Given the description of an element on the screen output the (x, y) to click on. 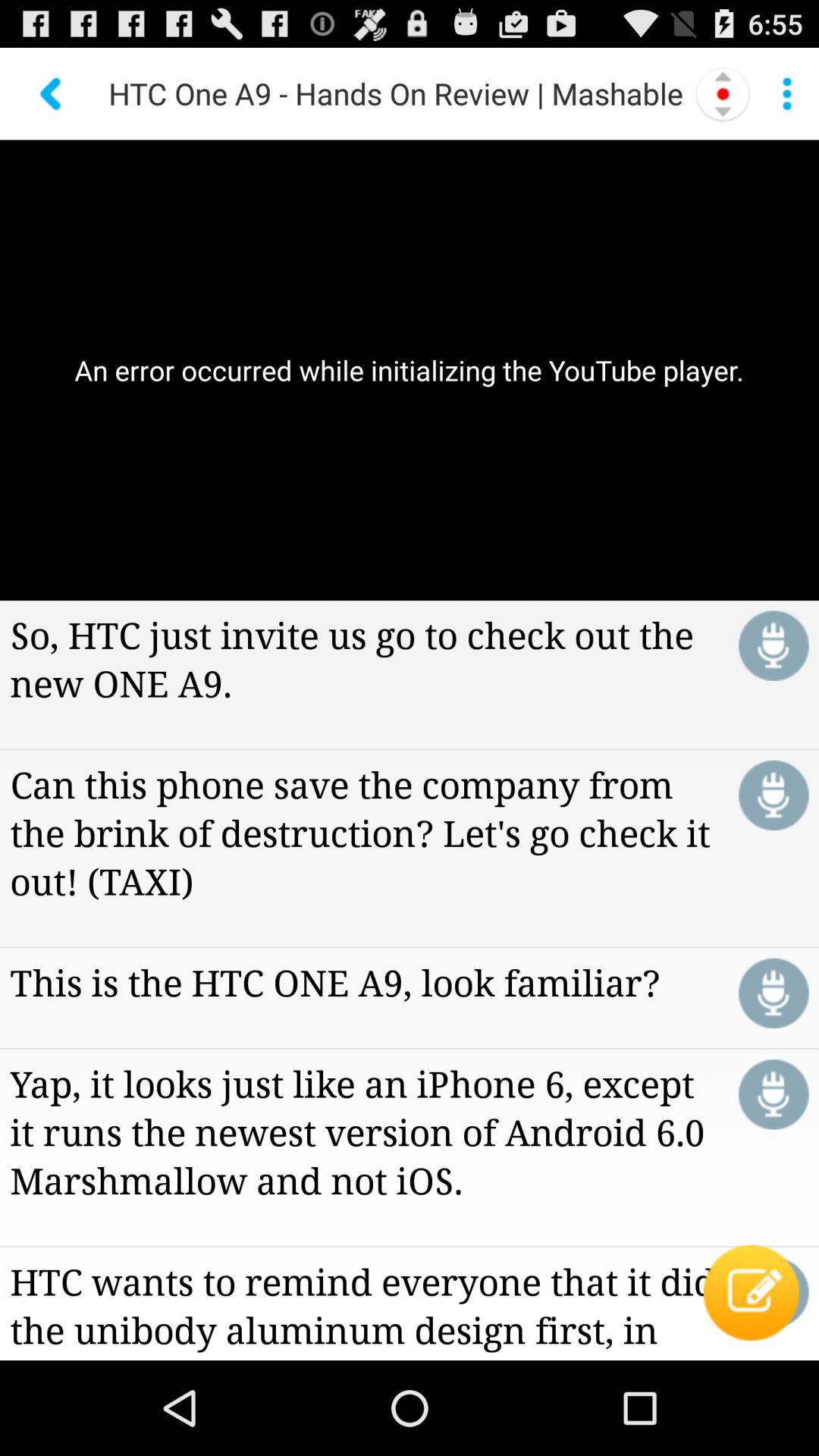
go to menu (787, 93)
